Given the description of an element on the screen output the (x, y) to click on. 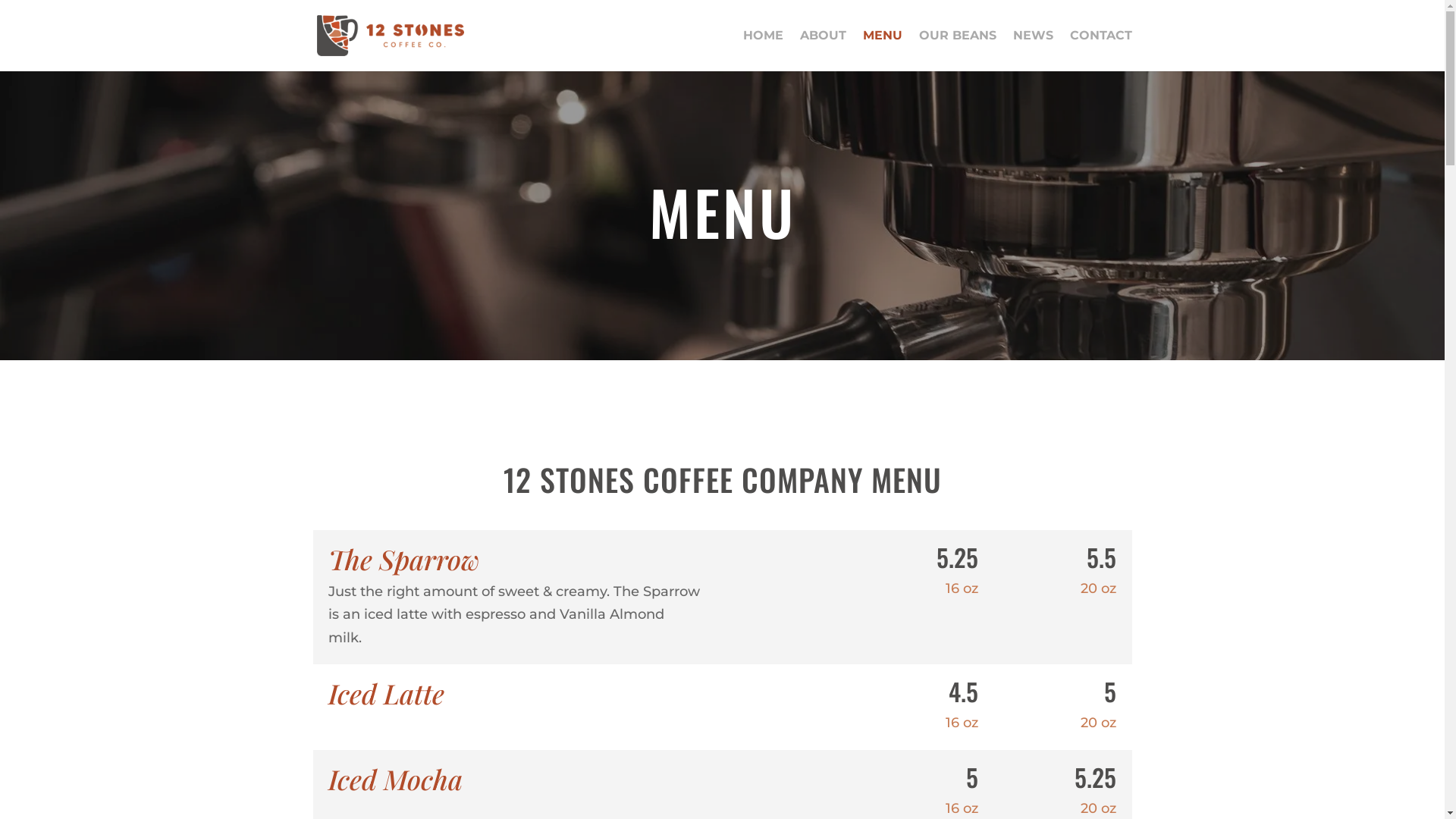
ABOUT Element type: text (822, 50)
MENU Element type: text (882, 50)
NEWS Element type: text (1033, 50)
CONTACT Element type: text (1100, 50)
HOME Element type: text (763, 50)
OUR BEANS Element type: text (957, 50)
